Given the description of an element on the screen output the (x, y) to click on. 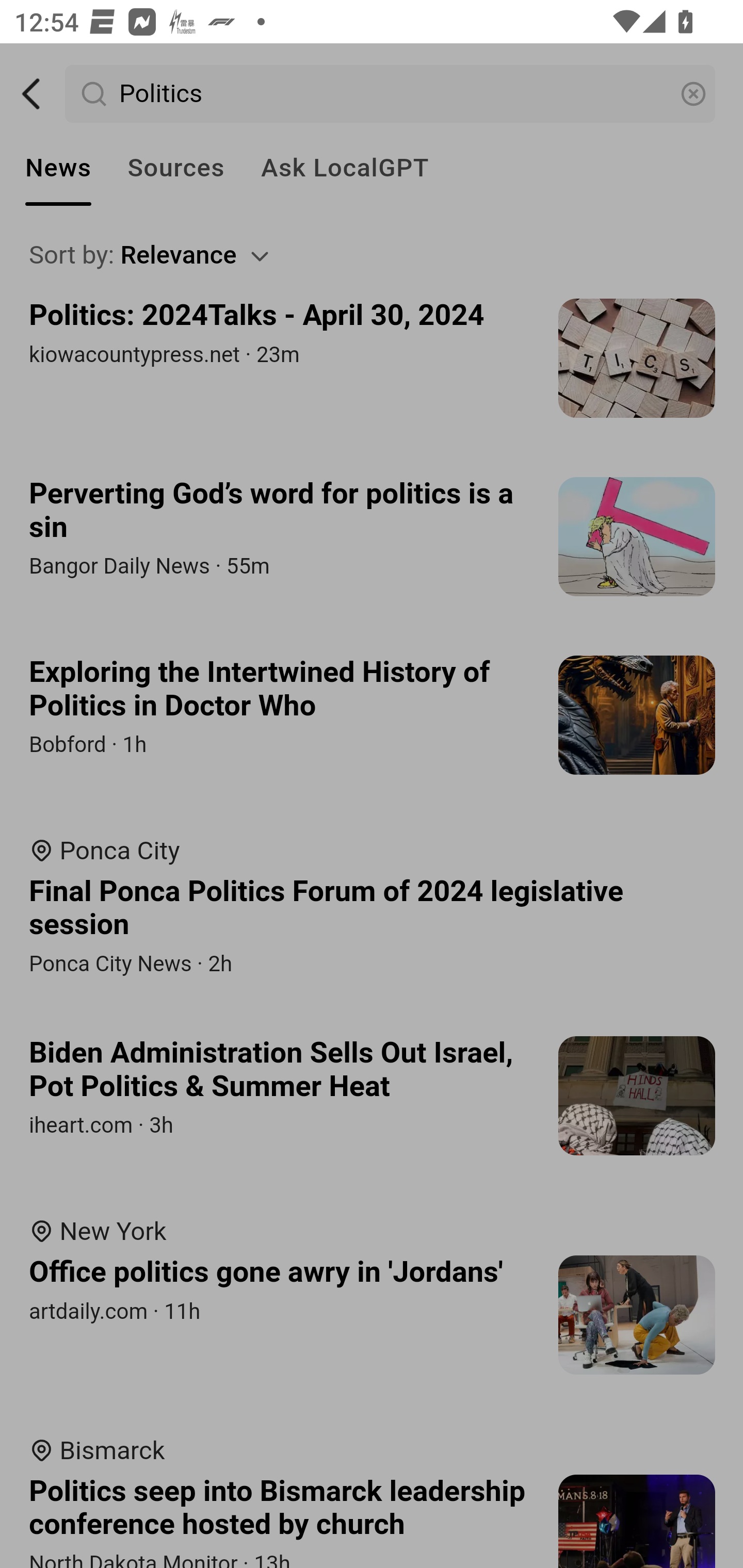
Politics (390, 93)
News (58, 168)
Sources (175, 168)
Ask LocalGPT (344, 168)
Sort by:  Relevance (372, 254)
